Given the description of an element on the screen output the (x, y) to click on. 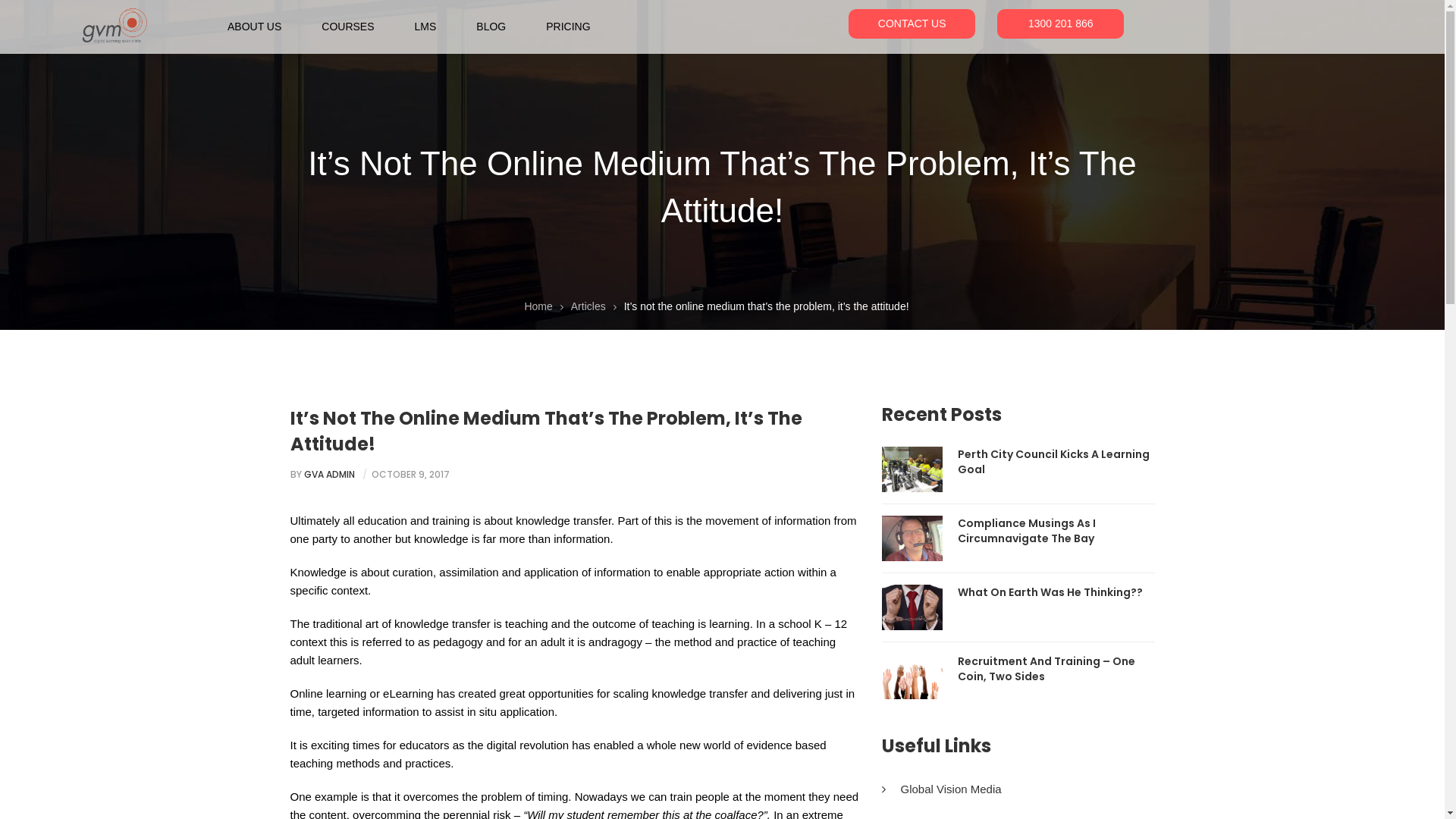
ABOUT US Element type: text (266, 24)
Global Vision Media Element type: text (941, 788)
Perth City Council Kicks A Learning Goal Element type: text (1055, 461)
Articles Element type: text (588, 306)
PRICING Element type: text (559, 24)
OCTOBER 9, 2017 Element type: text (410, 473)
COURSES Element type: text (352, 24)
GVA ADMIN Element type: text (328, 473)
1300 201 866 Element type: text (1060, 23)
BLOG Element type: text (495, 24)
Compliance Musings As I Circumnavigate The Bay Element type: text (1055, 530)
What On Earth Was He Thinking?? Element type: text (1049, 591)
LMS Element type: text (430, 24)
Home Element type: text (538, 306)
CONTACT US Element type: text (911, 23)
